Given the description of an element on the screen output the (x, y) to click on. 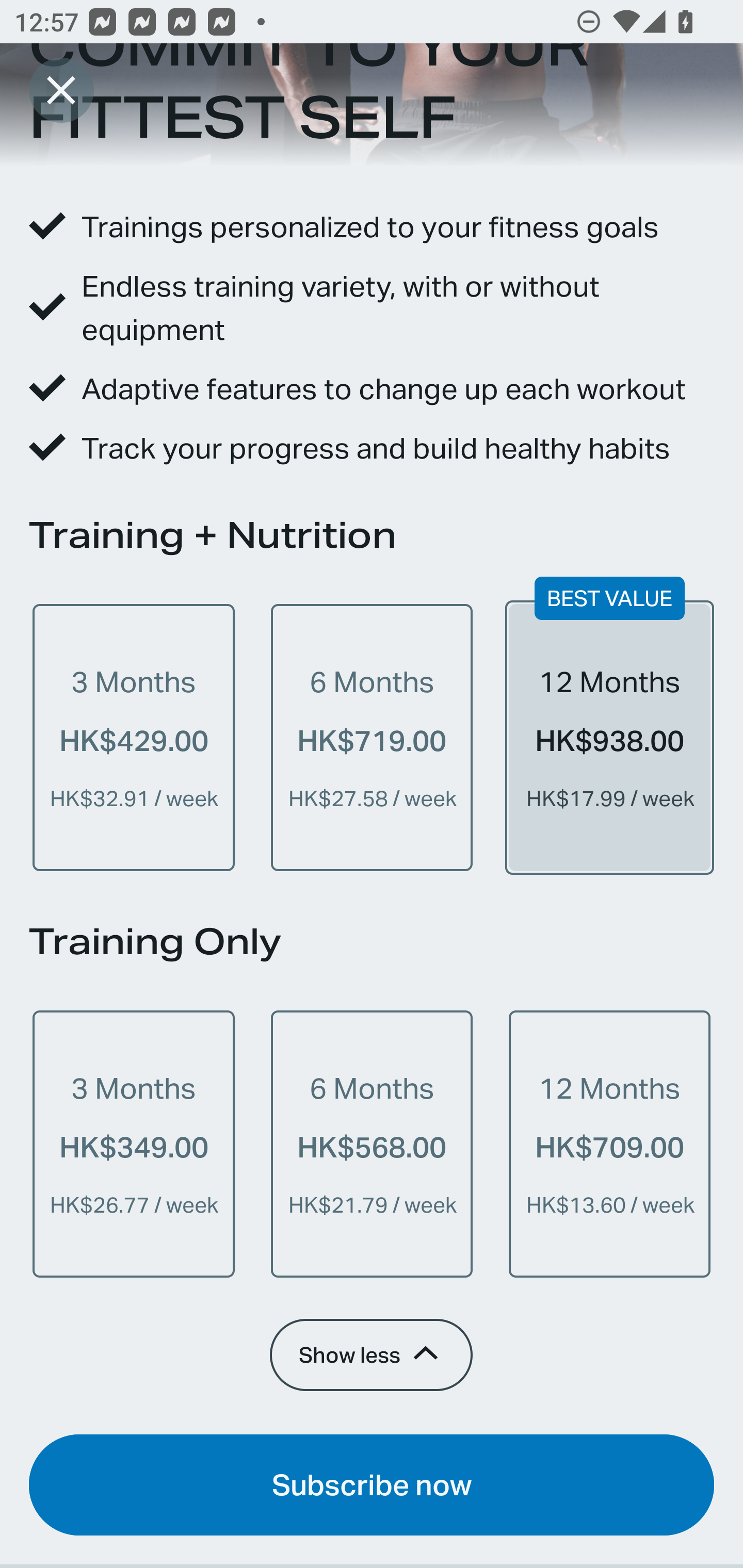
Close (60, 90)
3 Months HK$429.00 HK$32.91 / week (133, 737)
6 Months HK$719.00 HK$27.58 / week (371, 737)
12 Months HK$938.00 HK$17.99 / week (609, 737)
3 Months HK$349.00 HK$26.77 / week (133, 1143)
6 Months HK$568.00 HK$21.79 / week (371, 1143)
12 Months HK$709.00 HK$13.60 / week (609, 1143)
Show less (370, 1354)
Subscribe now (371, 1484)
